Given the description of an element on the screen output the (x, y) to click on. 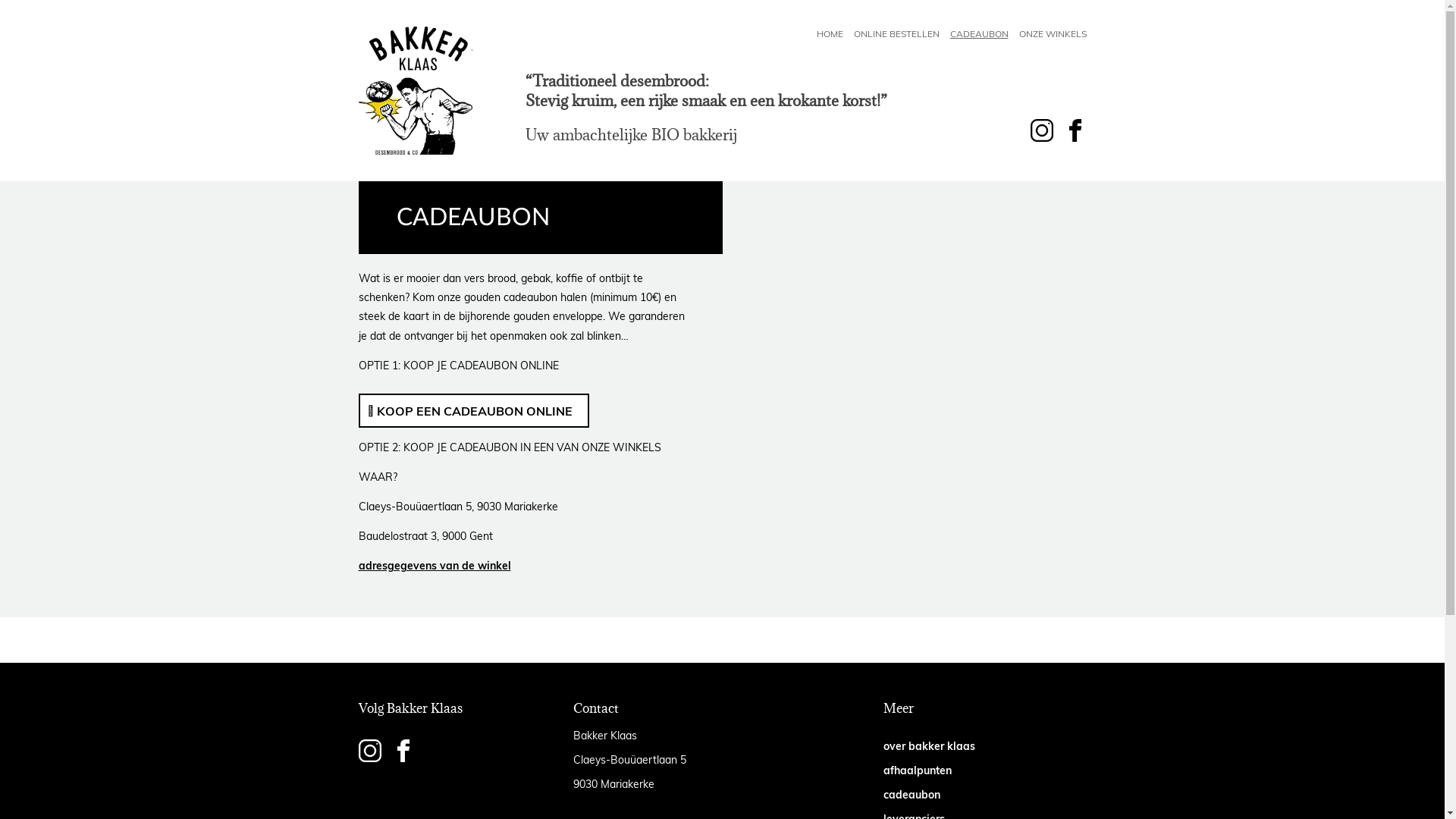
CADEAUBON Element type: text (978, 33)
bezoek Facebook pagina Element type: hover (1074, 131)
adresgegevens van de winkel Element type: text (433, 565)
over bakker klaas Element type: text (929, 746)
afhaalpunten Element type: text (917, 770)
Bakker Klaas Element type: text (414, 90)
HOME Element type: text (828, 33)
cadeaubon Element type: text (911, 794)
bezoek Facebook pagina Element type: hover (402, 752)
ONZE WINKELS Element type: text (1052, 33)
bezoek Instagram pagina Element type: hover (368, 752)
ONLINE BESTELLEN Element type: text (896, 33)
KOOP EEN CADEAUBON ONLINE Element type: text (472, 410)
bezoek Instagram pagina Element type: hover (1040, 131)
